Given the description of an element on the screen output the (x, y) to click on. 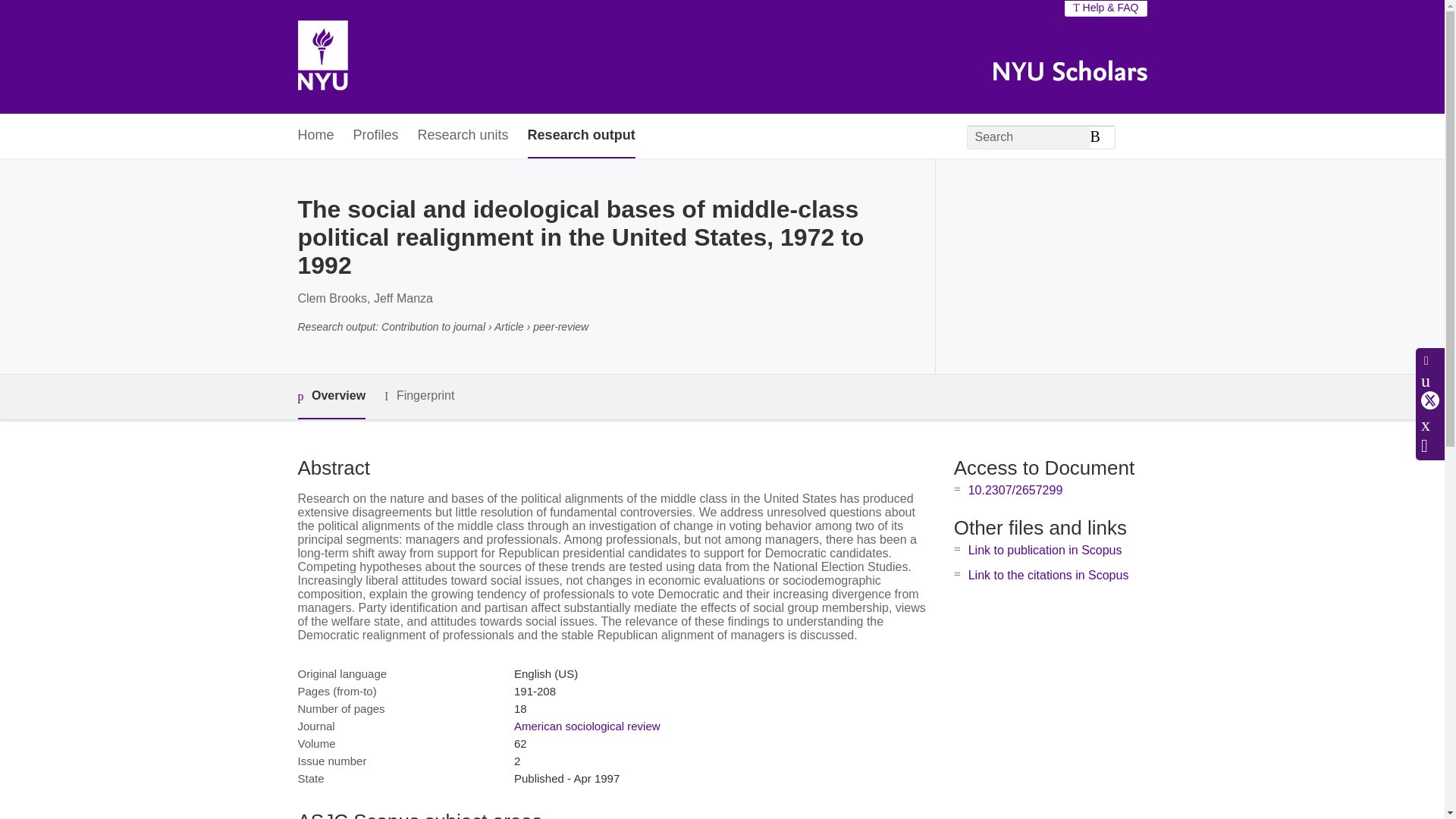
Link to the citations in Scopus (1048, 574)
Overview (331, 396)
Fingerprint (419, 395)
Profiles (375, 135)
Research output (580, 135)
Research units (462, 135)
American sociological review (587, 725)
Link to publication in Scopus (1045, 549)
